Given the description of an element on the screen output the (x, y) to click on. 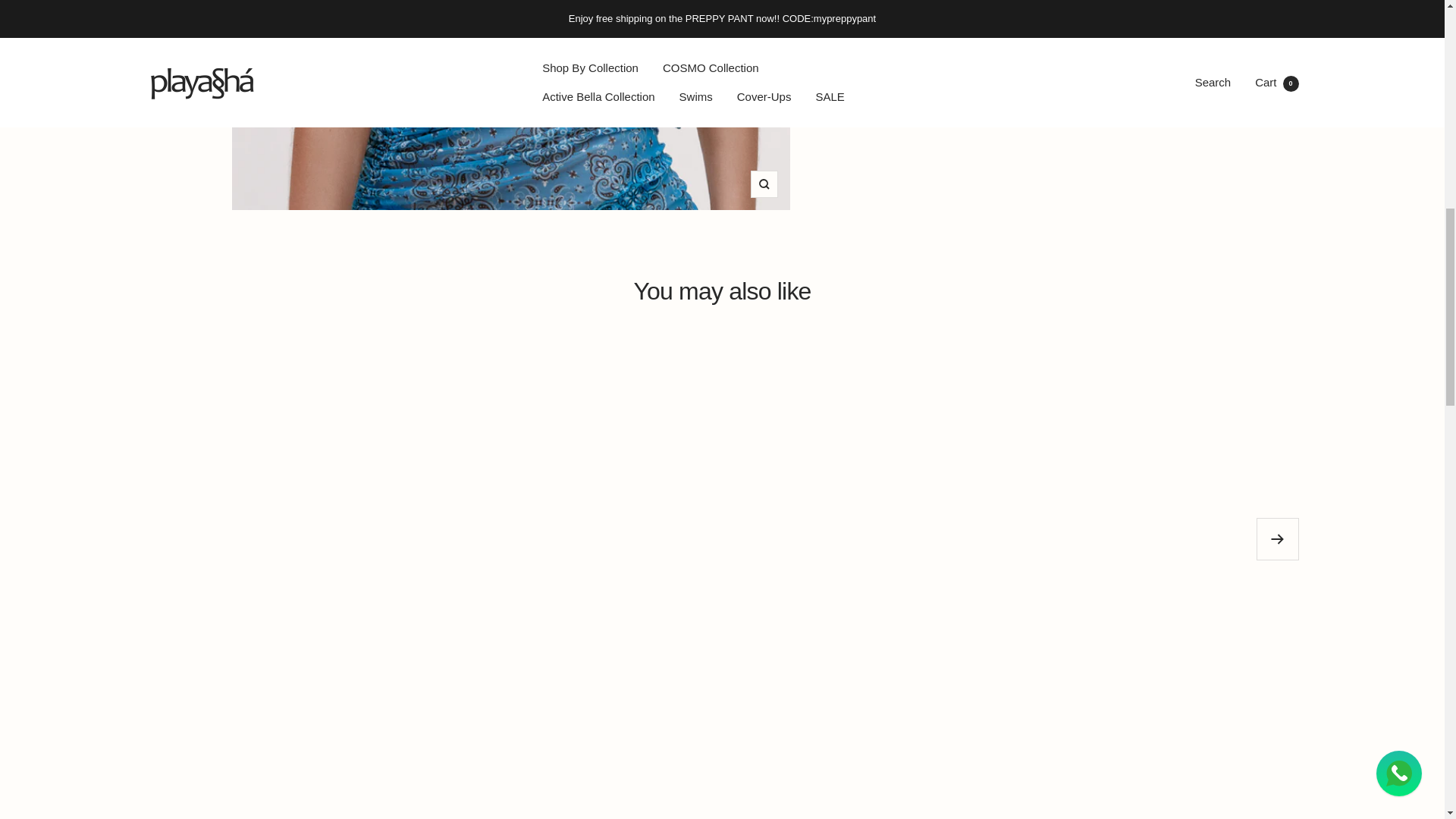
Zoom (764, 184)
